Given the description of an element on the screen output the (x, y) to click on. 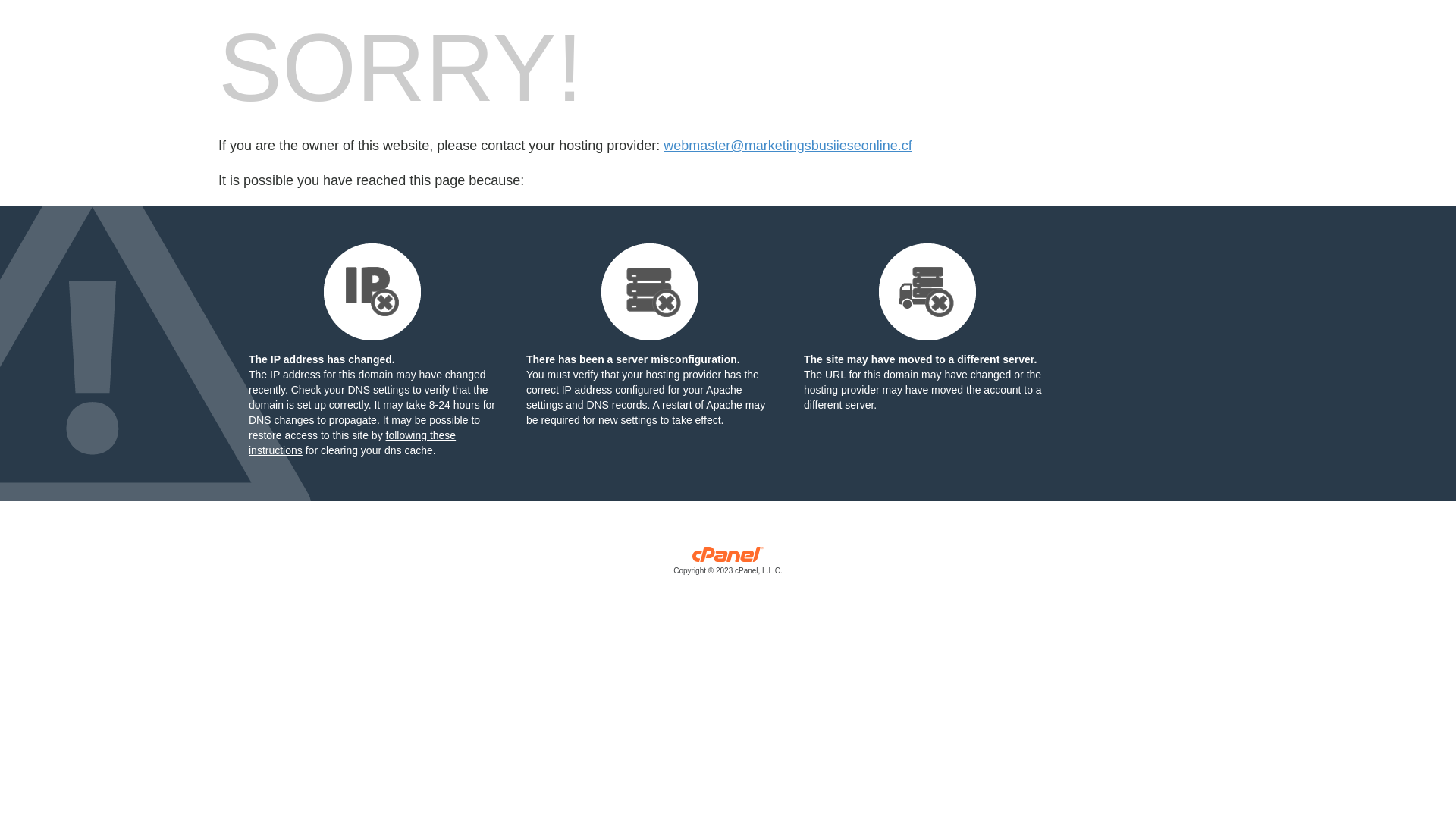
webmaster@marketingsbusiieseonline.cf Element type: text (787, 145)
following these instructions Element type: text (351, 442)
